Given the description of an element on the screen output the (x, y) to click on. 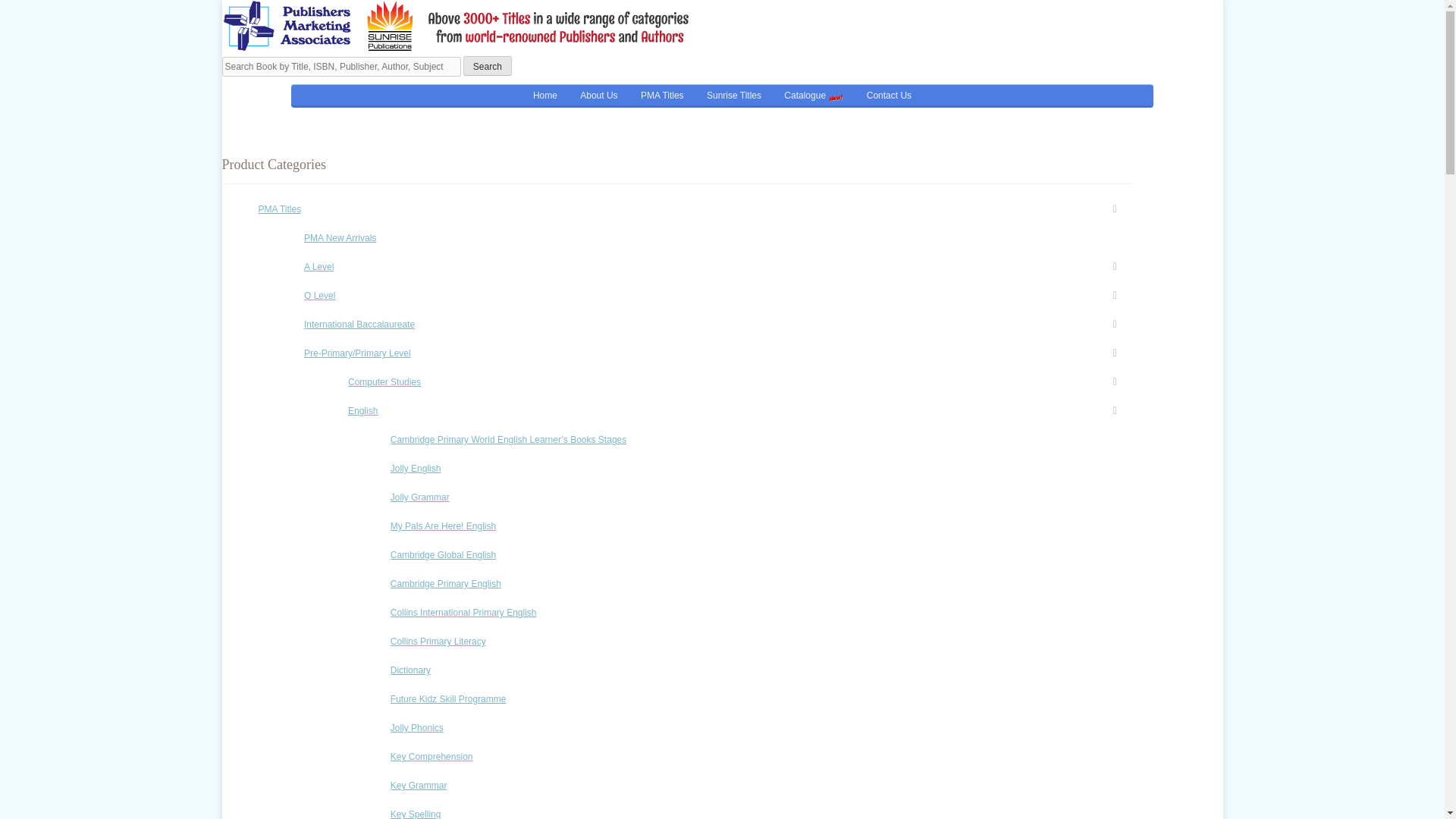
Sunrise Titles (734, 95)
Contact Us (889, 95)
PMA Titles (661, 95)
PMA Titles (694, 208)
A Level (718, 266)
Catalogue (813, 95)
About Us (598, 95)
Search (487, 66)
Search (487, 66)
Home About Us PMA Titles Sunrise Titles Catalogue Contact Us (722, 95)
PMA New Arrivals (718, 237)
Search (487, 66)
Home (545, 95)
